Given the description of an element on the screen output the (x, y) to click on. 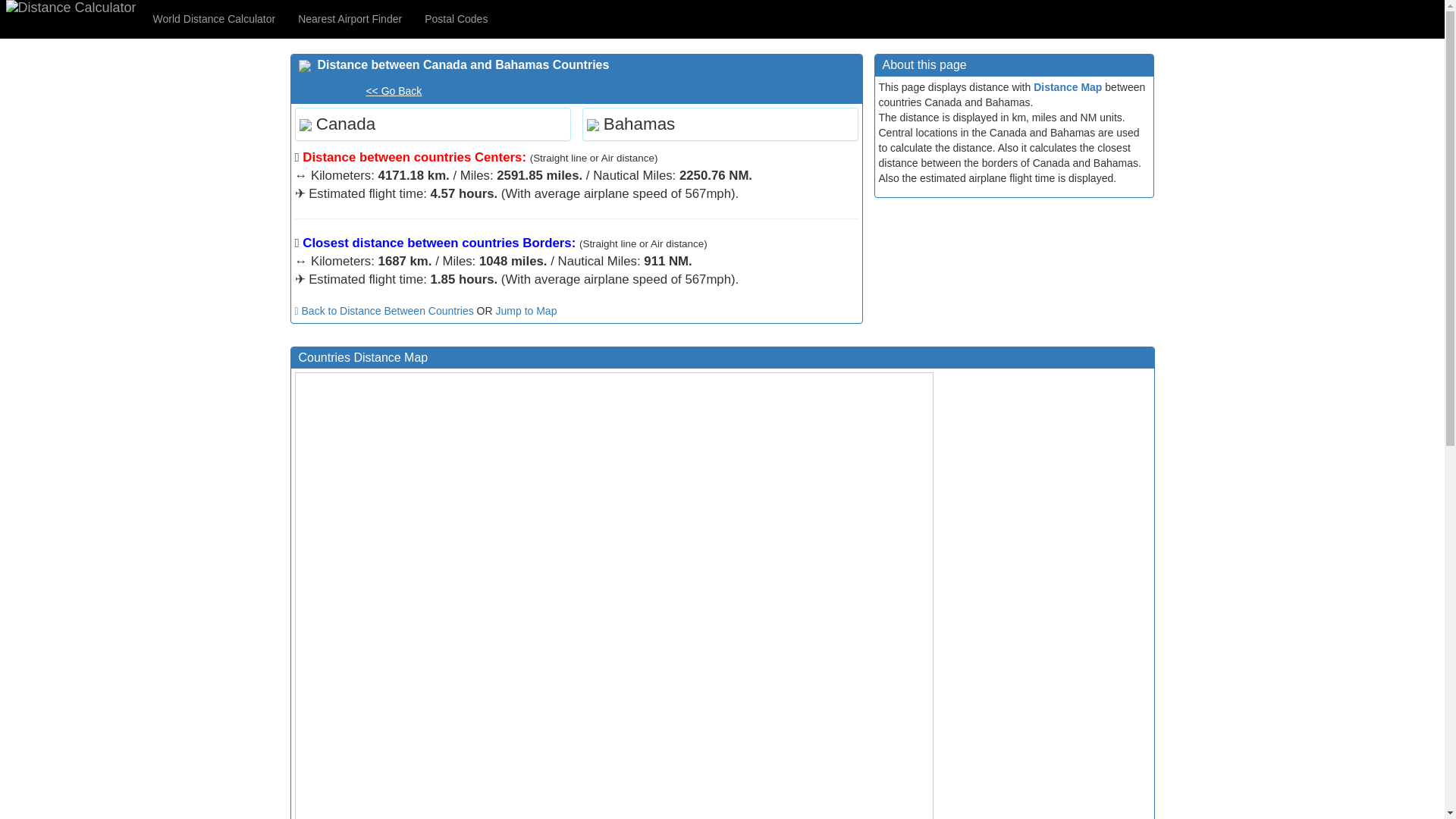
Jump to Map (526, 310)
Distance Calculator (70, 7)
Nearest Airport Finder (349, 18)
Distance Map (1067, 87)
World Distance Calculator (213, 18)
Postal Codes (456, 18)
